Given the description of an element on the screen output the (x, y) to click on. 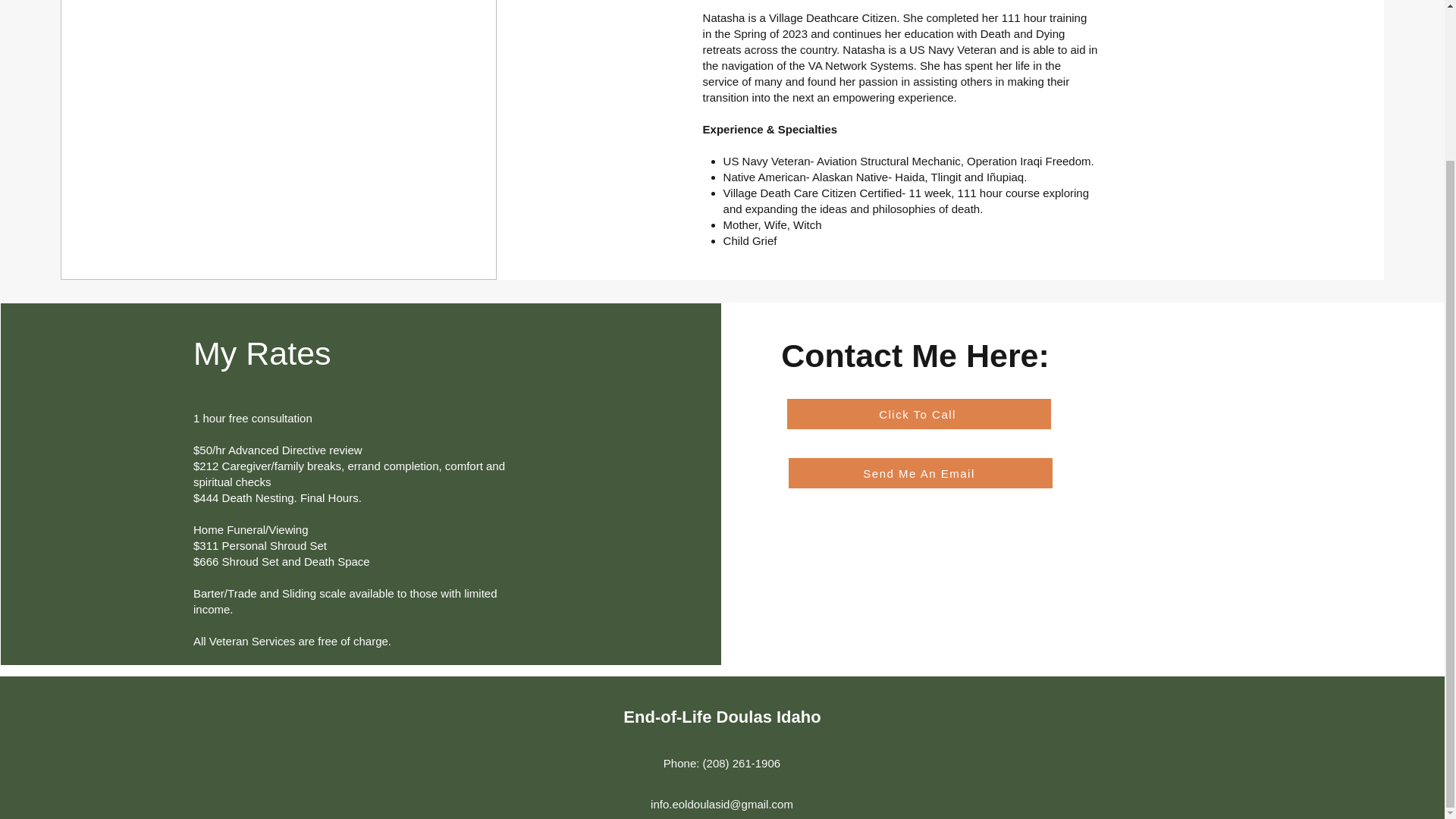
Send Me An Email (920, 472)
Click To Call (919, 413)
End-of-Life Doulas Idaho (722, 716)
